Given the description of an element on the screen output the (x, y) to click on. 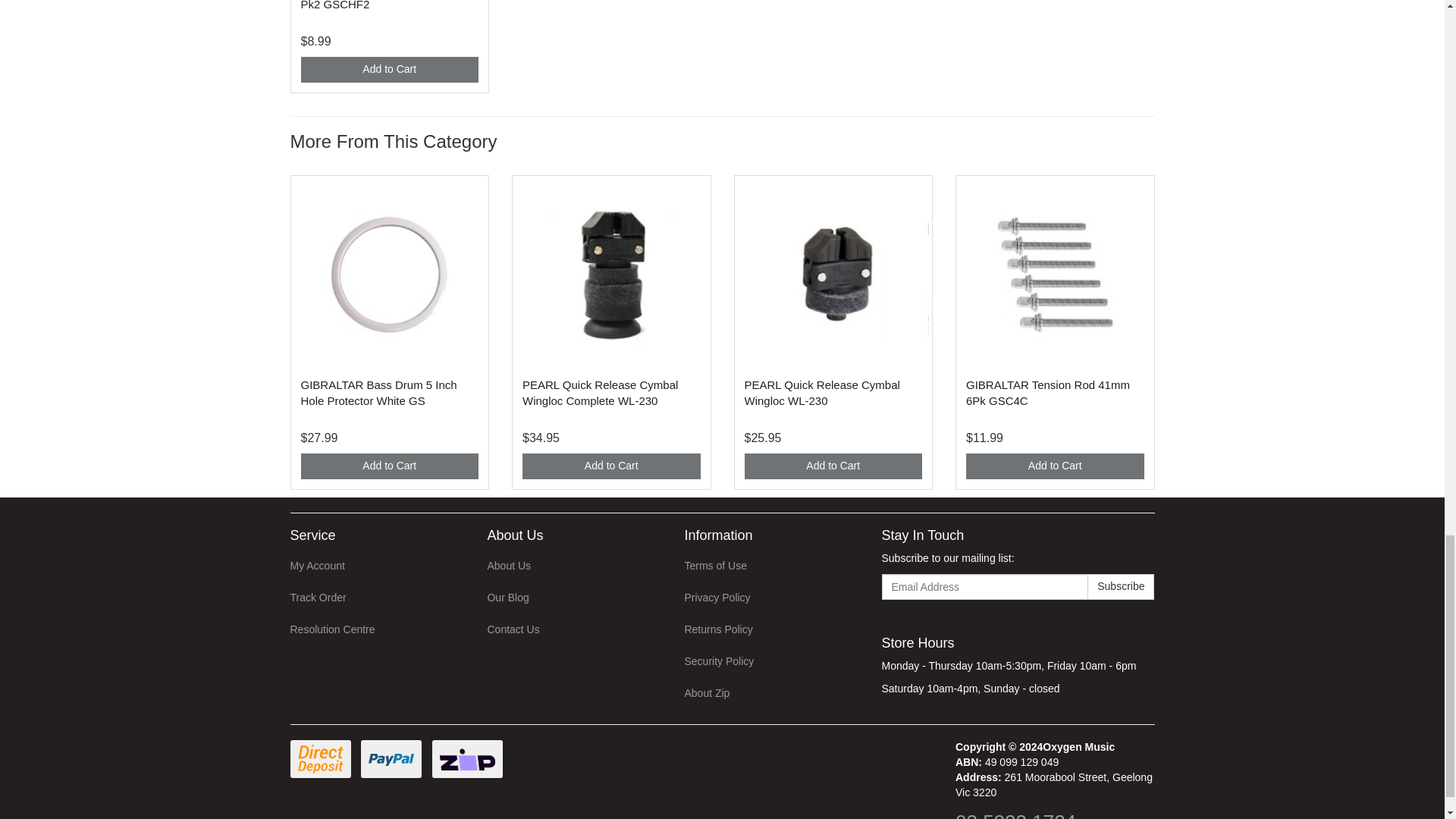
GIBRALTAR Bass Drum 5 Inch Hole Protector White GSCGPHP5W (378, 392)
PEARL Quick Release Cymbal Wingloc WL-230 (821, 392)
GIBRALTAR Cymbal Hi Hat Felts Pk2 GSCHF2 (383, 5)
Add to Cart (1055, 466)
Add to Cart (833, 466)
PEARL Quick Release Cymbal Wingloc Complete WL-230A (600, 392)
Add to Cart (389, 466)
Add to Cart (389, 69)
Subscribe (1120, 586)
Add to Cart (611, 466)
GIBRALTAR Tension Rod 41mm 6Pk GSC4C (1047, 392)
